Given the description of an element on the screen output the (x, y) to click on. 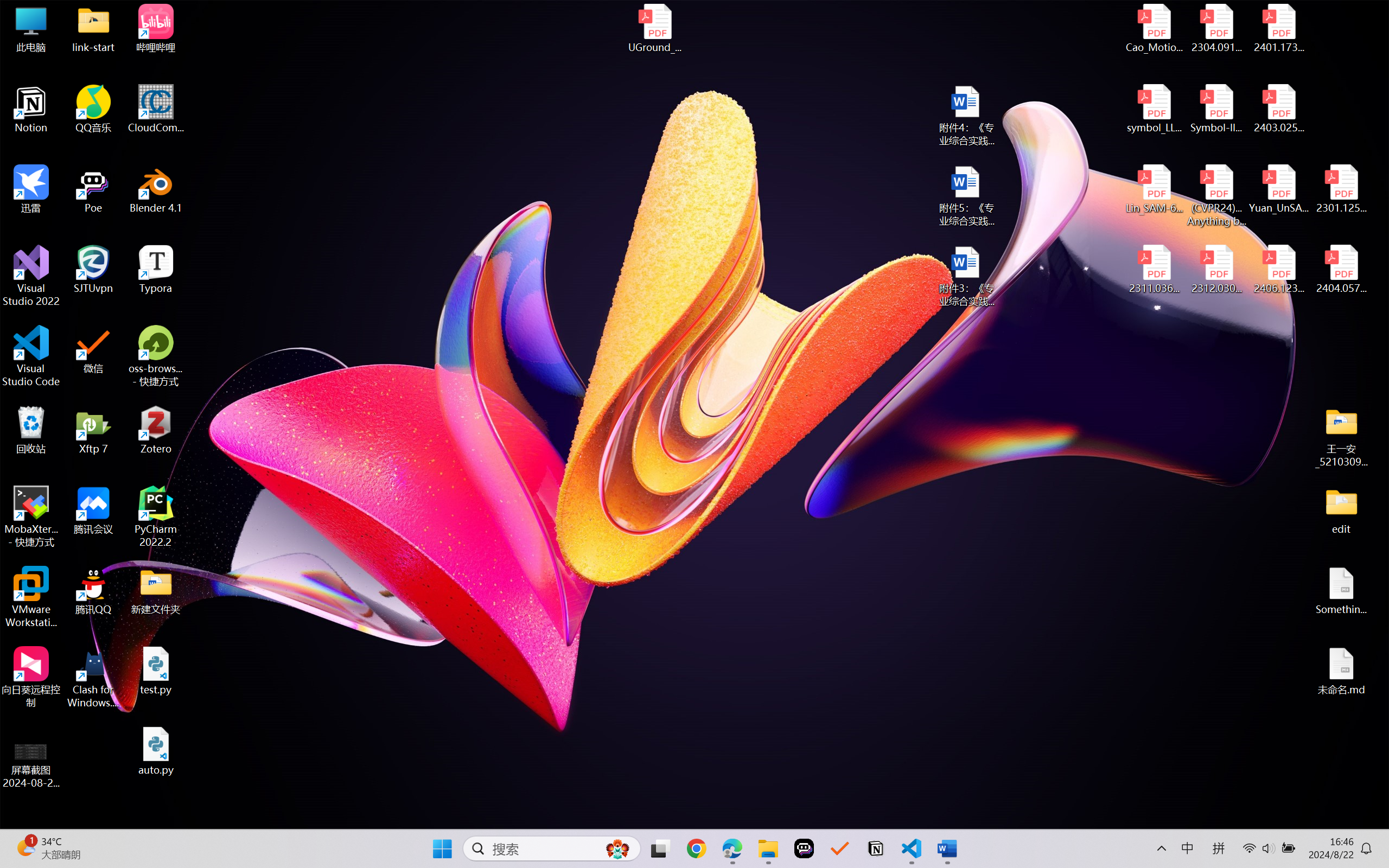
2403.02502v1.pdf (1278, 109)
2311.03658v2.pdf (1154, 269)
2406.12373v2.pdf (1278, 269)
